Given the description of an element on the screen output the (x, y) to click on. 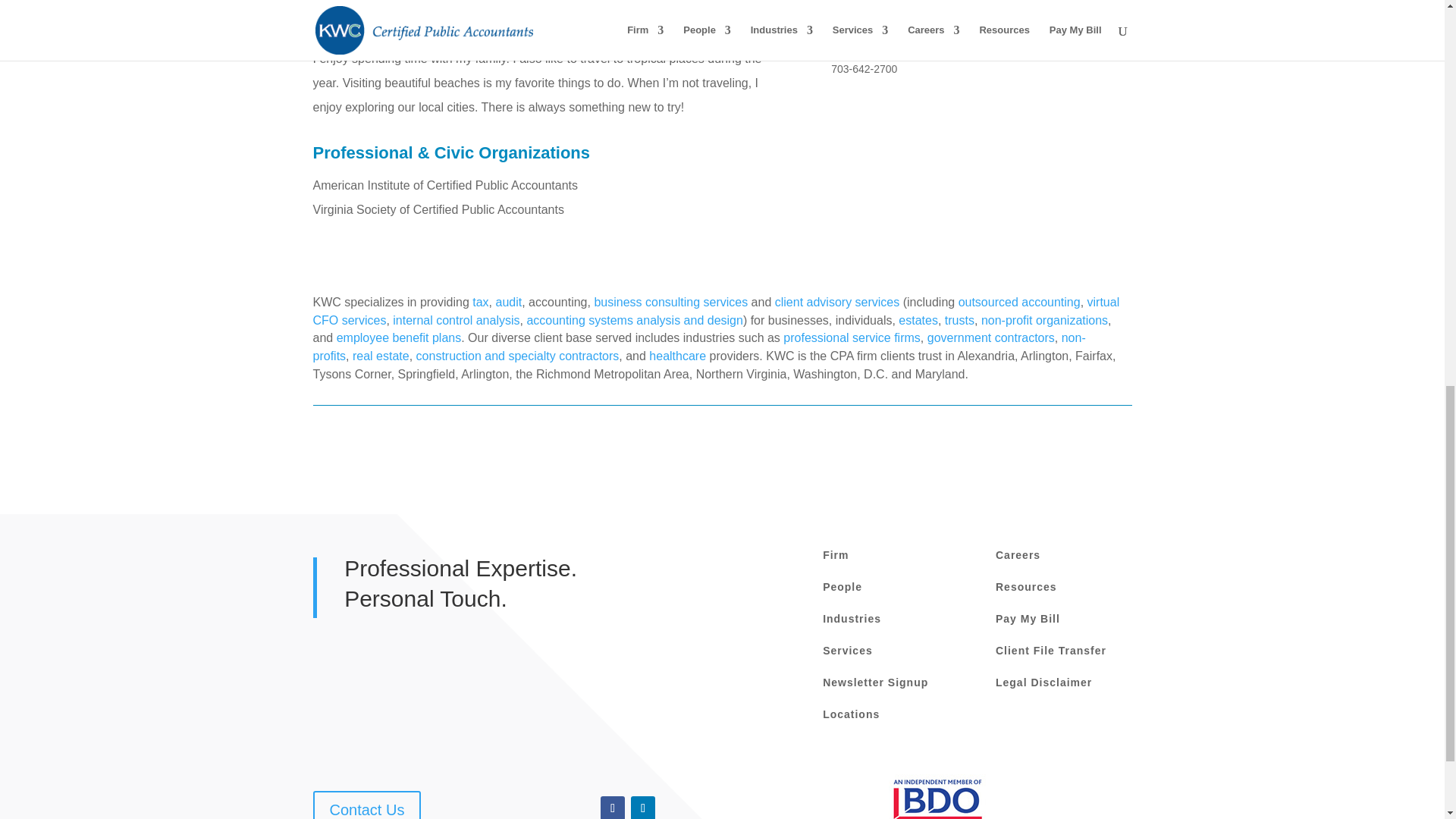
Non-Profits (698, 346)
Non-Profits (1044, 319)
Real Estate (380, 355)
Business Consulting (671, 301)
Government Contractors (990, 337)
Employee Benefit Plan Audits (398, 337)
Professional Services (851, 337)
